Given the description of an element on the screen output the (x, y) to click on. 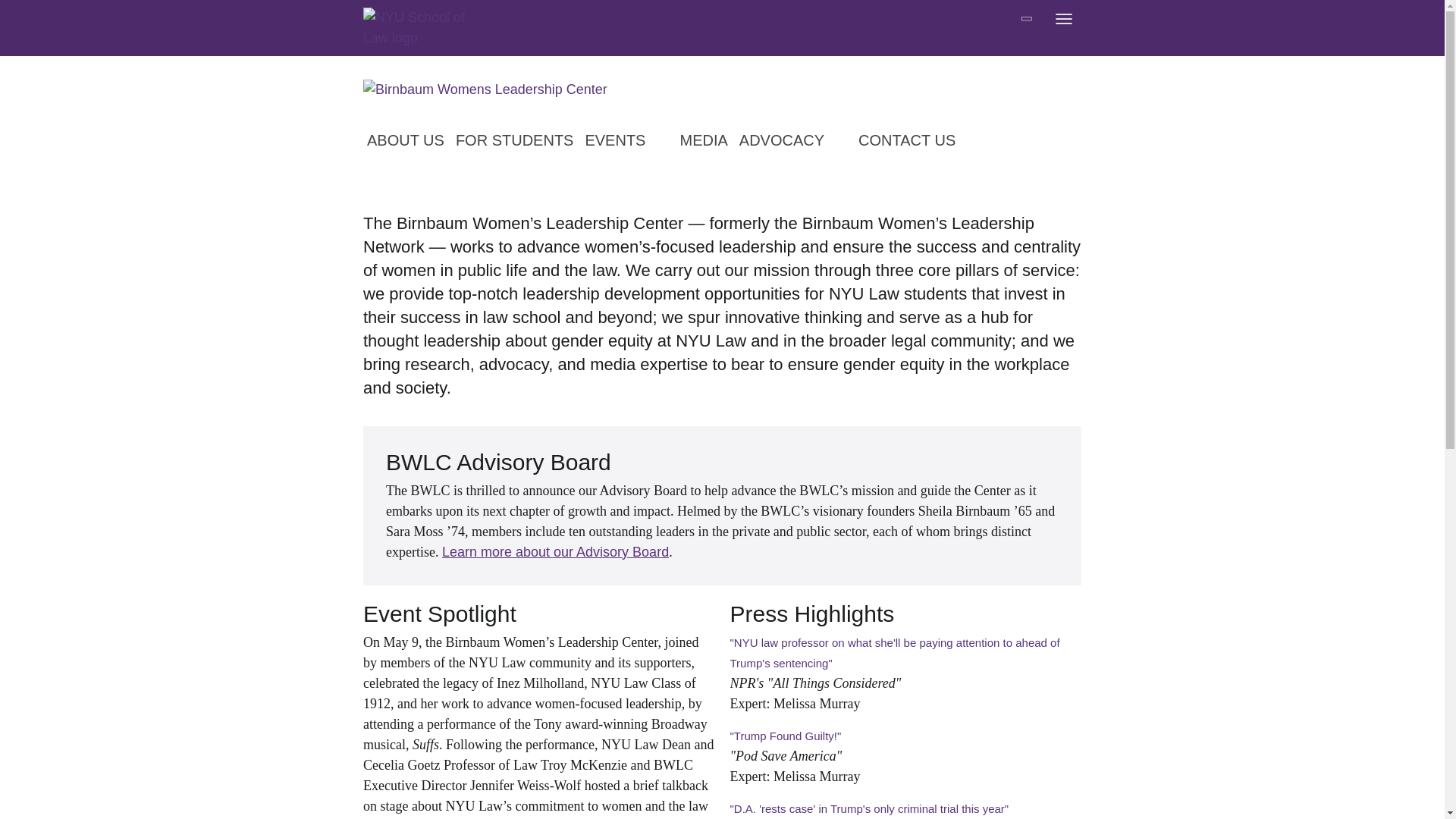
"D.A. 'rests case' in Trump's only criminal trial this year" (869, 808)
EVENTS (630, 140)
ADVOCACY (796, 140)
CONTACT US (910, 140)
Learn more about our Advisory Board (555, 551)
Home (423, 27)
"Trump Found Guilty!" (785, 735)
ABOUT US (408, 140)
